Given the description of an element on the screen output the (x, y) to click on. 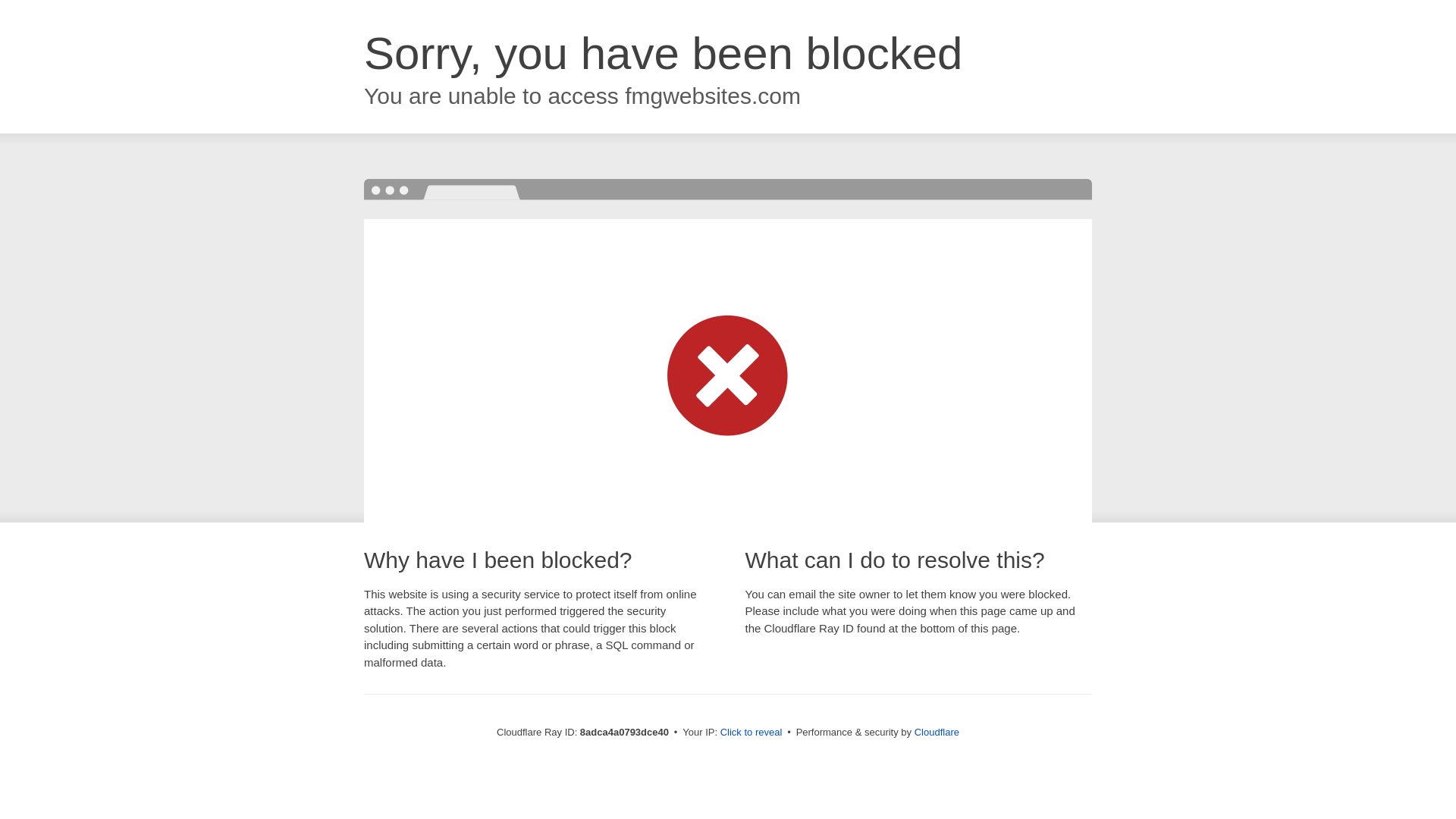
Cloudflare (936, 731)
Click to reveal (751, 732)
